Given the description of an element on the screen output the (x, y) to click on. 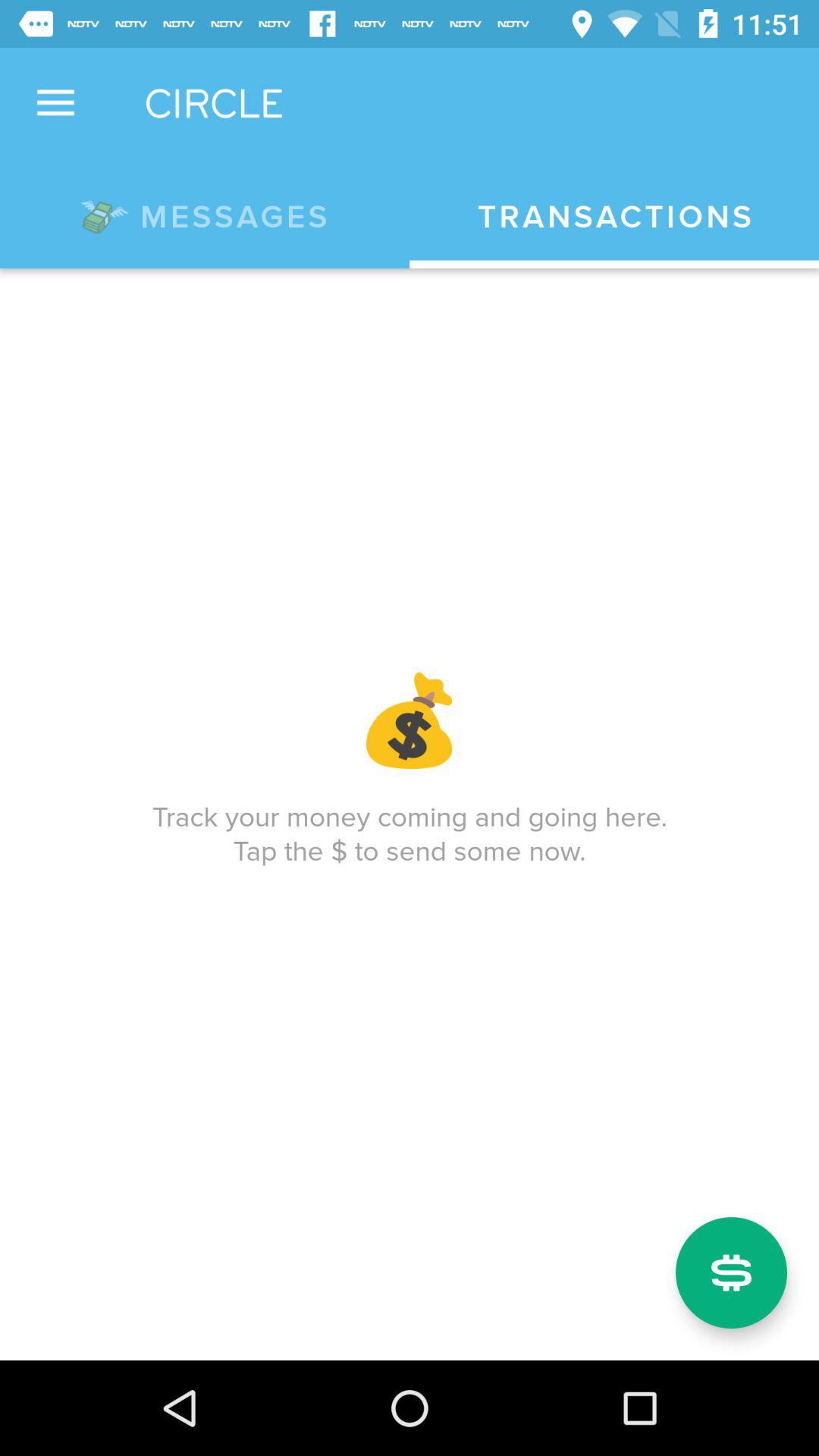
select the item to the right of the *messages app (614, 217)
